Given the description of an element on the screen output the (x, y) to click on. 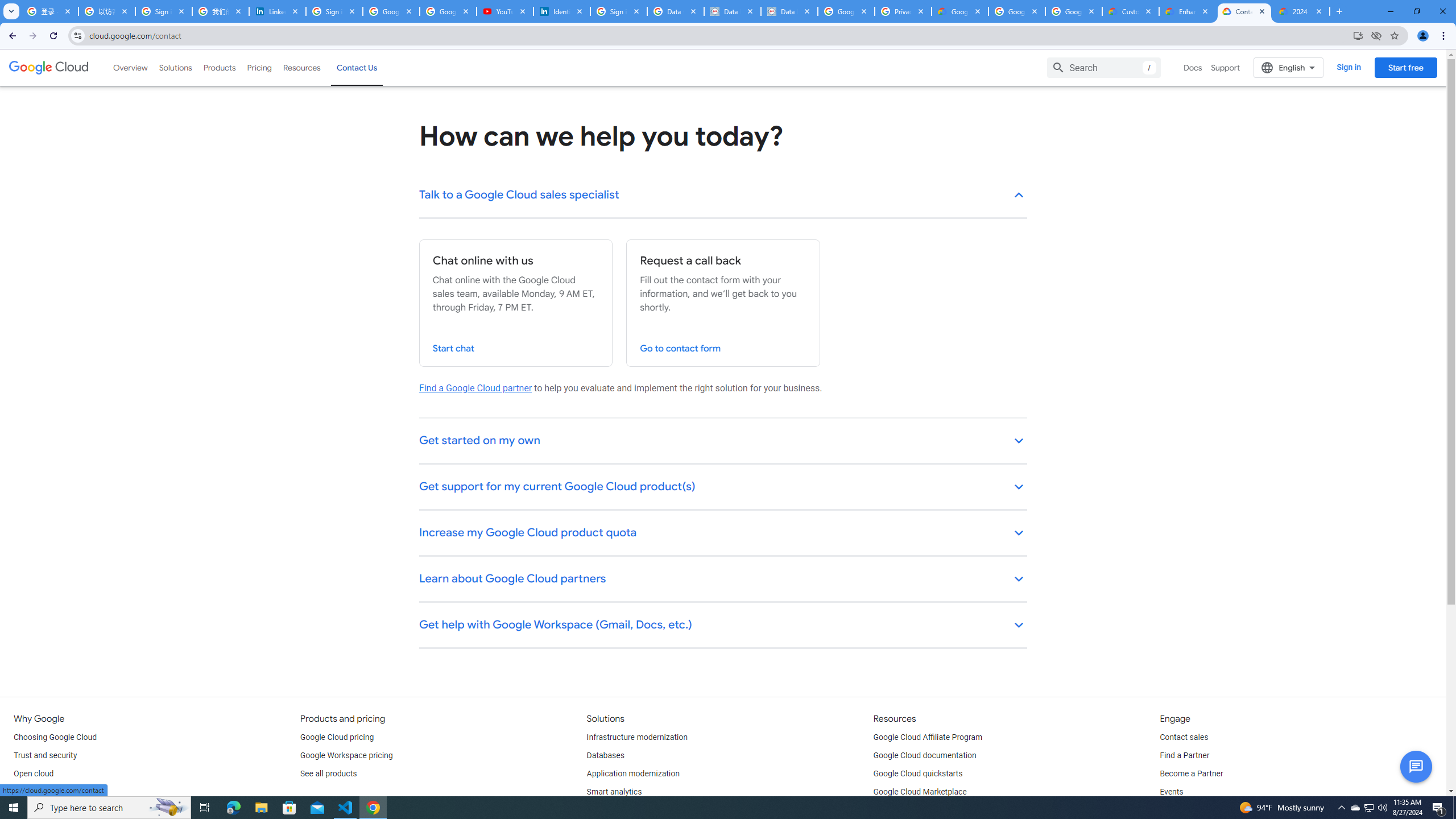
Solutions (175, 67)
Data Privacy Framework (731, 11)
Databases (605, 755)
Find a Google Cloud partner (475, 387)
Infrastructure modernization (637, 737)
Get started on my own keyboard_arrow_down (723, 441)
English (1288, 67)
Install Google Cloud (1358, 35)
